Given the description of an element on the screen output the (x, y) to click on. 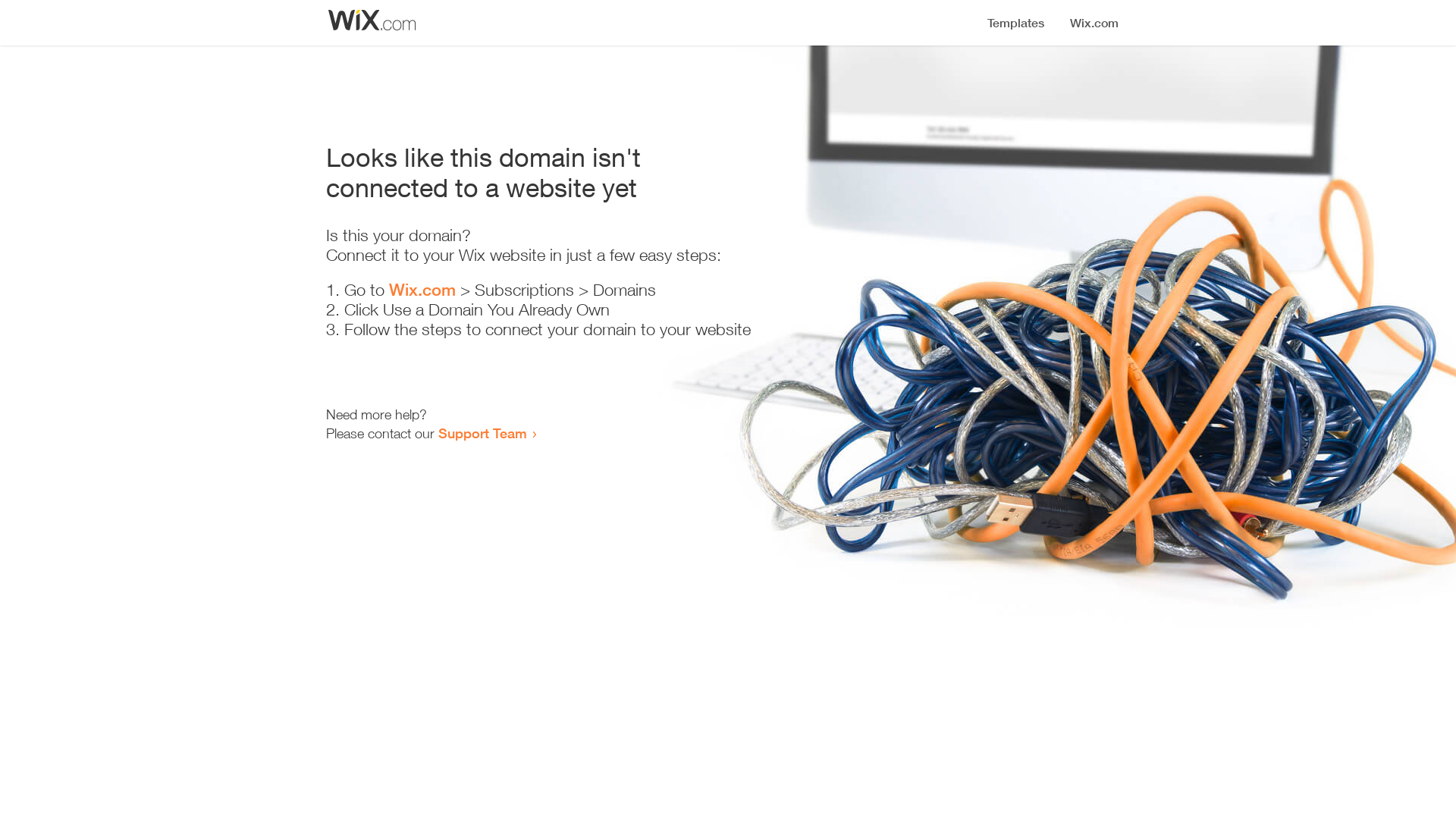
Support Team Element type: text (482, 432)
Wix.com Element type: text (422, 289)
